Given the description of an element on the screen output the (x, y) to click on. 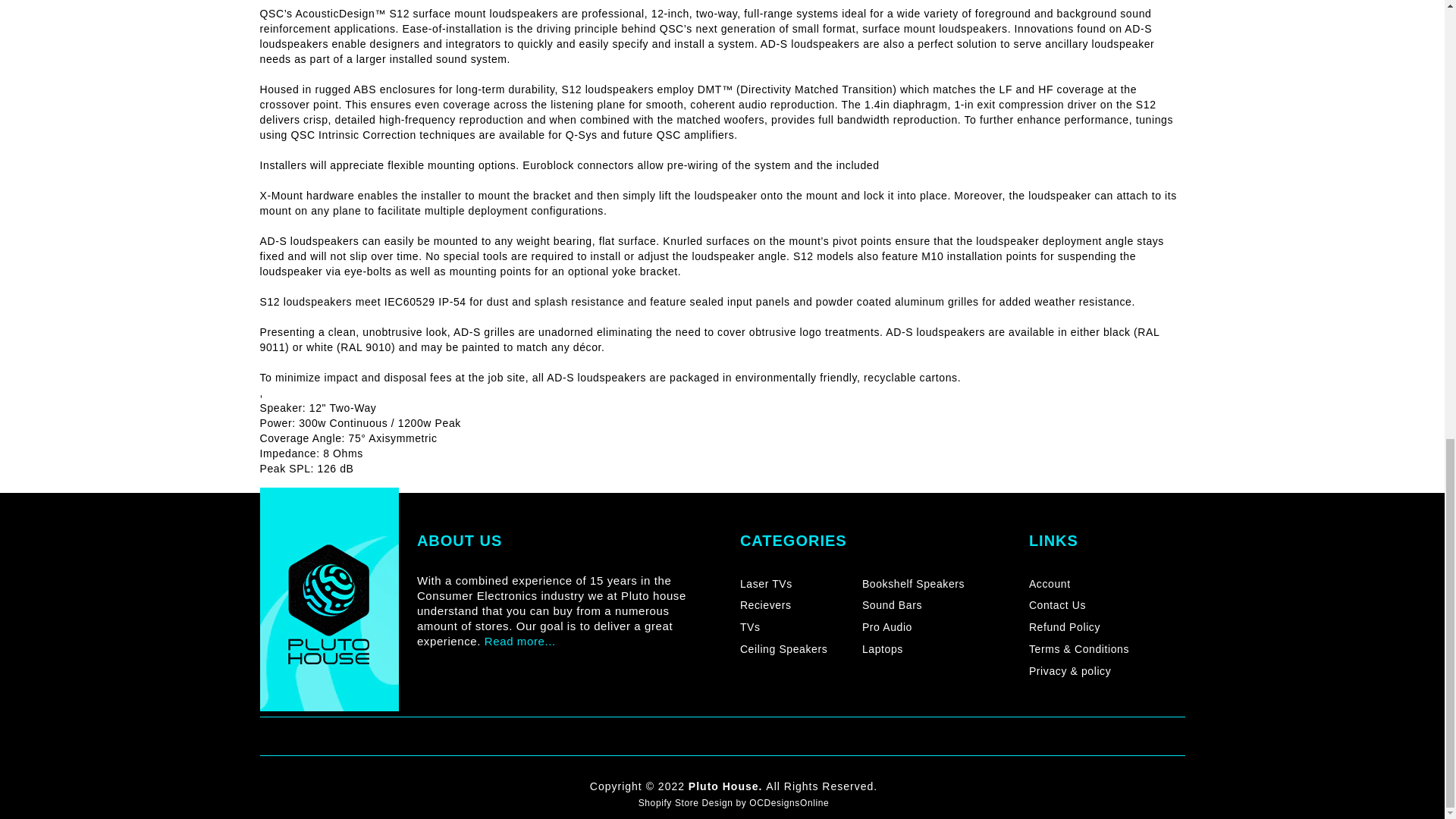
Shopify Theme Development (788, 802)
